Given the description of an element on the screen output the (x, y) to click on. 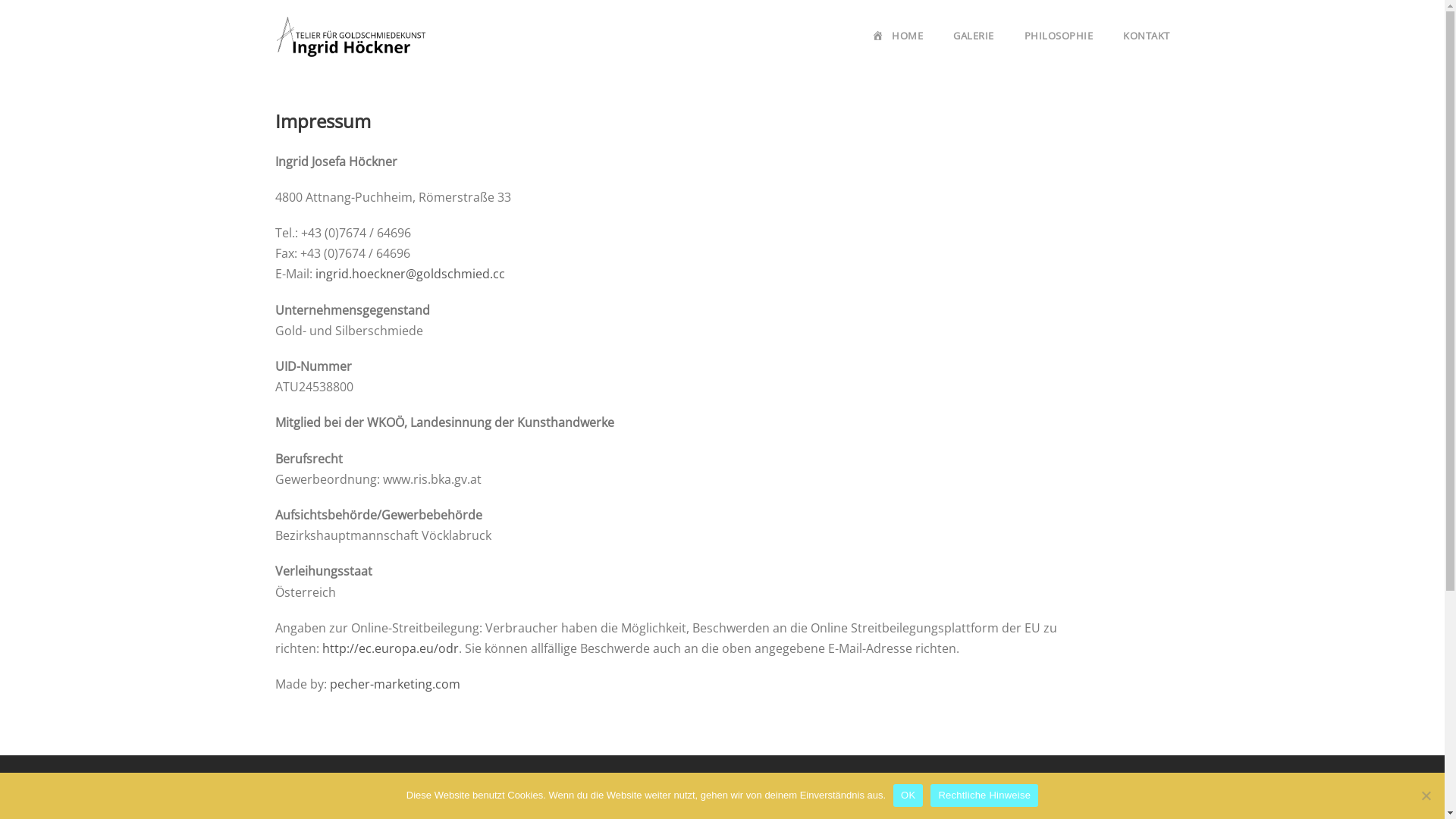
pecher-marketing.com Element type: text (394, 683)
ingrid.hoeckner@goldschmied.cc Element type: text (410, 273)
Rechtliche Hinweise Element type: text (984, 795)
KONTAKT Element type: text (1146, 48)
OK Element type: text (907, 795)
GALERIE Element type: text (973, 48)
Nein Element type: hover (1425, 795)
PHILOSOPHIE Element type: text (1057, 48)
HOME Element type: text (897, 48)
http://ec.europa.eu/odr Element type: text (389, 648)
